Given the description of an element on the screen output the (x, y) to click on. 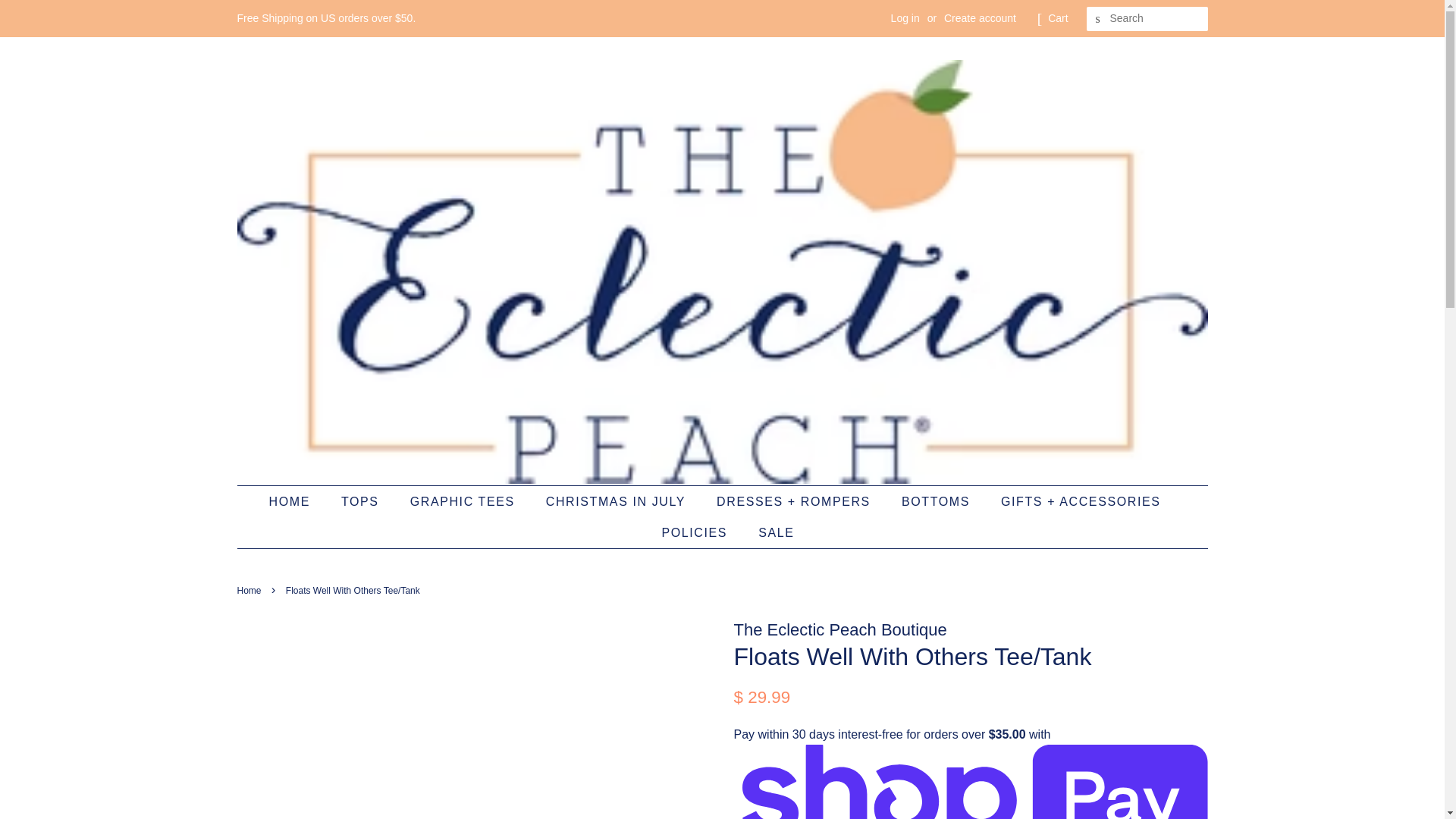
Cart (1057, 18)
SALE (769, 531)
POLICIES (696, 531)
Back to the frontpage (249, 590)
GRAPHIC TEES (463, 501)
Log in (905, 18)
TOPS (362, 501)
HOME (295, 501)
SEARCH (1097, 18)
Create account (979, 18)
BOTTOMS (937, 501)
Home (249, 590)
CHRISTMAS IN JULY (617, 501)
